Given the description of an element on the screen output the (x, y) to click on. 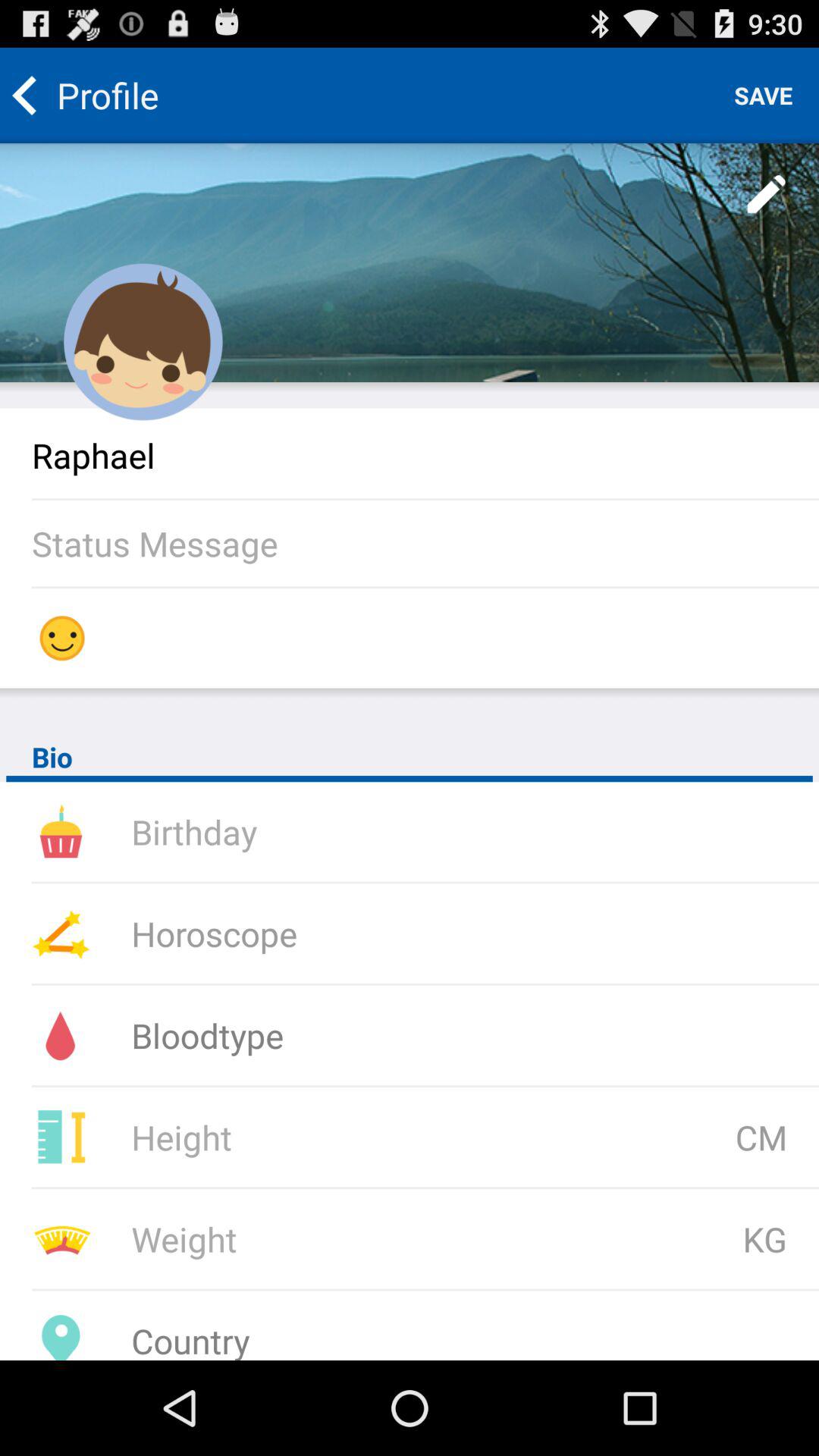
avatar (142, 342)
